Given the description of an element on the screen output the (x, y) to click on. 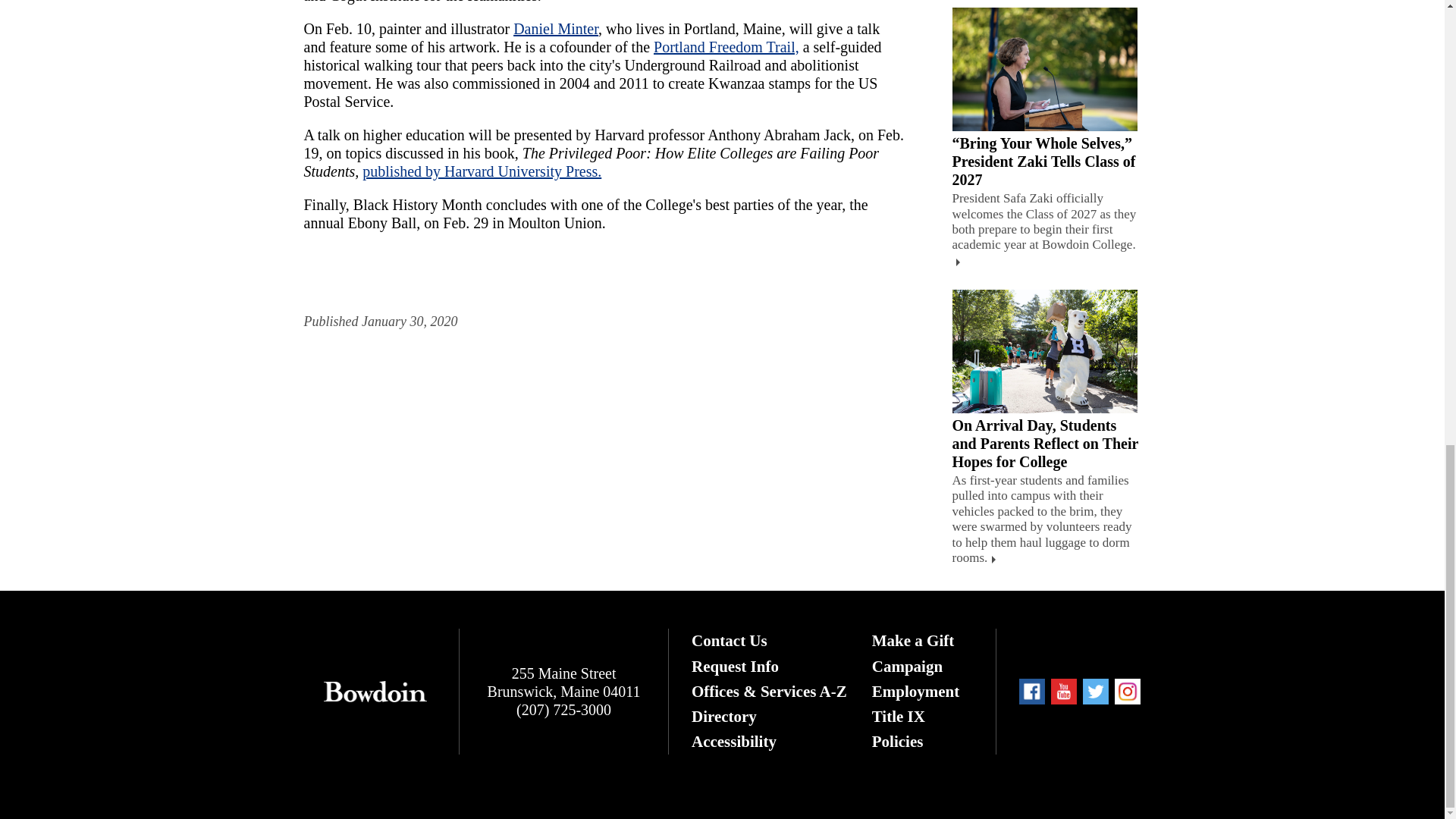
view location on Google Maps (563, 682)
Portland Freedom Trail, (726, 46)
Daniel Minter (555, 28)
published by Harvard University Press. (481, 170)
Bowdoin College Home (374, 691)
